Given the description of an element on the screen output the (x, y) to click on. 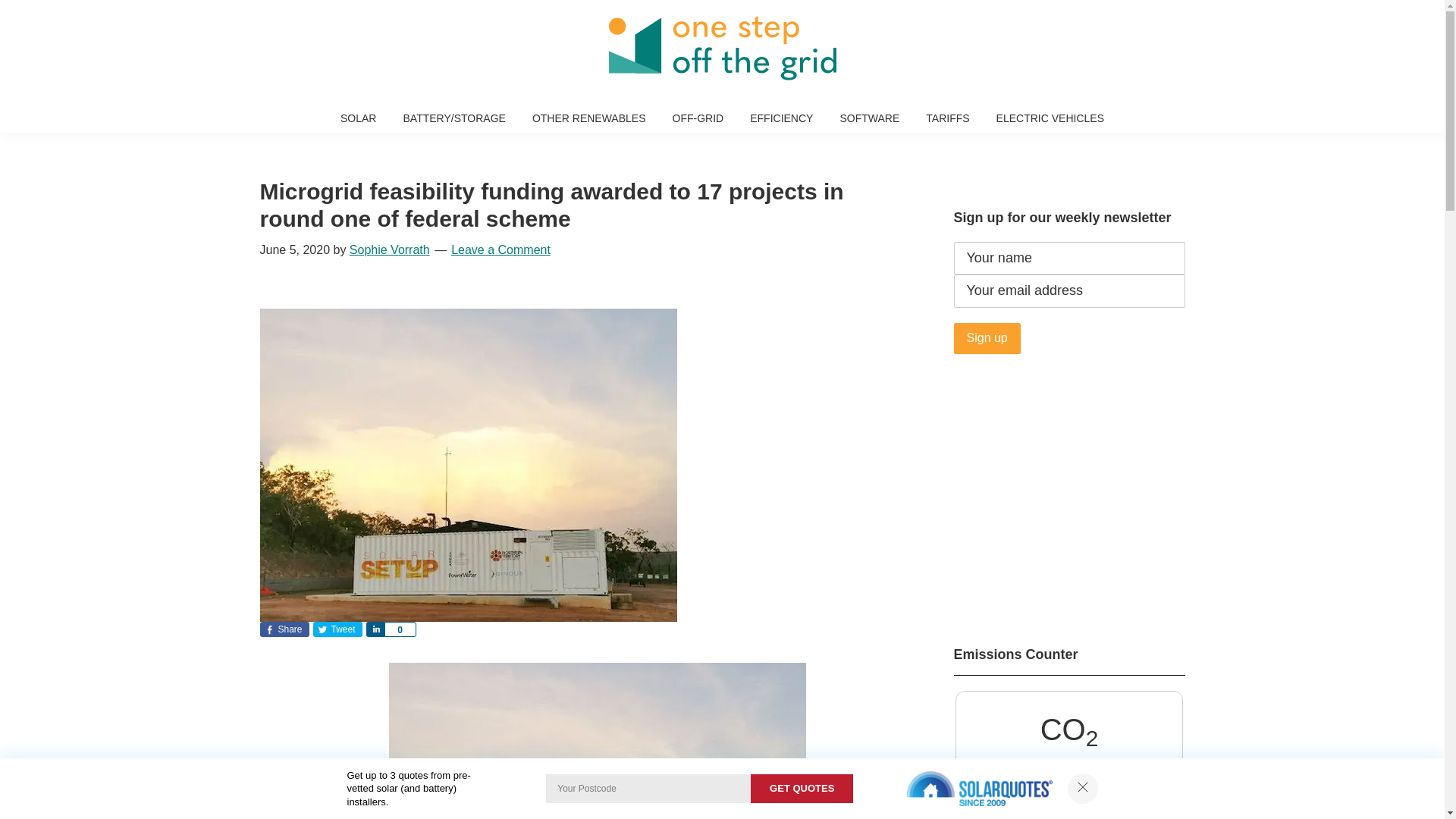
SOFTWARE Element type: text (869, 117)
ELECTRIC VEHICLES Element type: text (1050, 117)
Share Element type: text (374, 629)
Leave a Comment Element type: text (500, 249)
TARIFFS Element type: text (947, 117)
Advertisement Element type: hover (1069, 491)
SOLAR Element type: text (358, 117)
OFF-GRID Element type: text (698, 117)
BATTERY/STORAGE Element type: text (453, 117)
0 Element type: text (399, 629)
Tweet Element type: text (336, 629)
Sign up Element type: text (986, 338)
OTHER RENEWABLES Element type: text (588, 117)
Skip to primary navigation Element type: text (0, 0)
Get Quotes Element type: text (801, 788)
Sophie Vorrath Element type: text (389, 249)
Share Element type: text (283, 629)
EFFICIENCY Element type: text (781, 117)
